Given the description of an element on the screen output the (x, y) to click on. 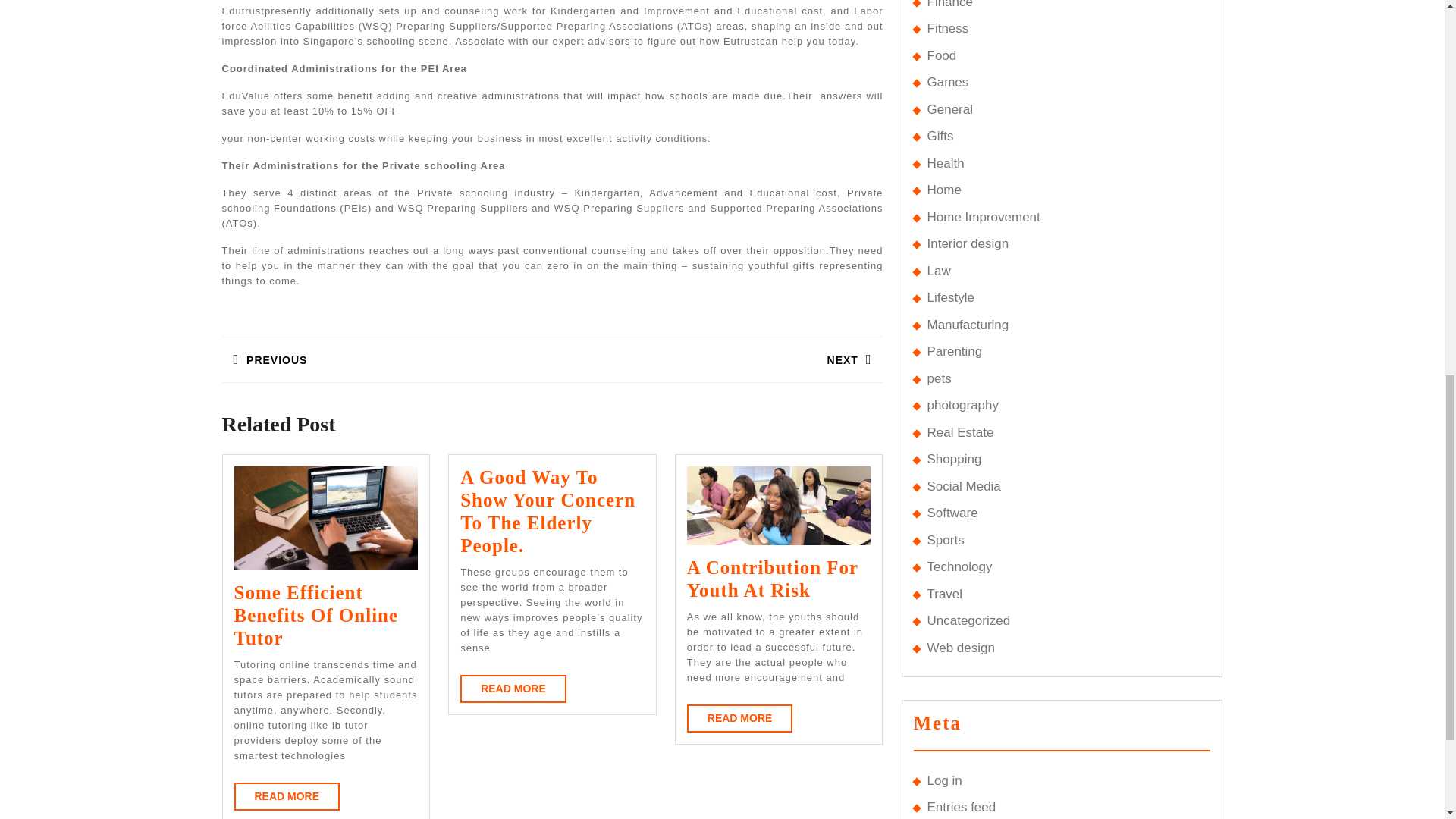
Fitness (947, 28)
Finance (949, 4)
